Given the description of an element on the screen output the (x, y) to click on. 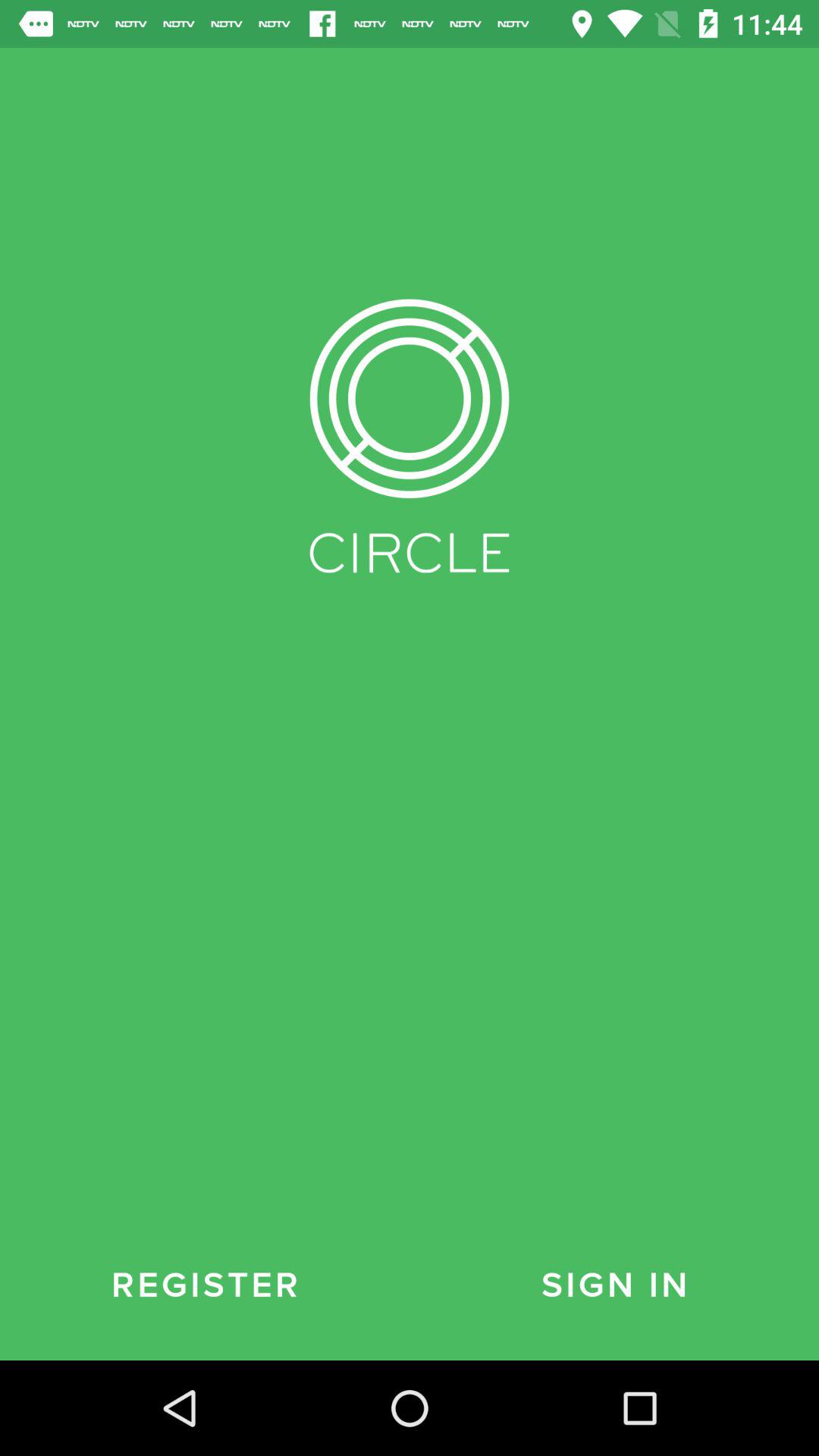
click item next to the sign in (204, 1285)
